Given the description of an element on the screen output the (x, y) to click on. 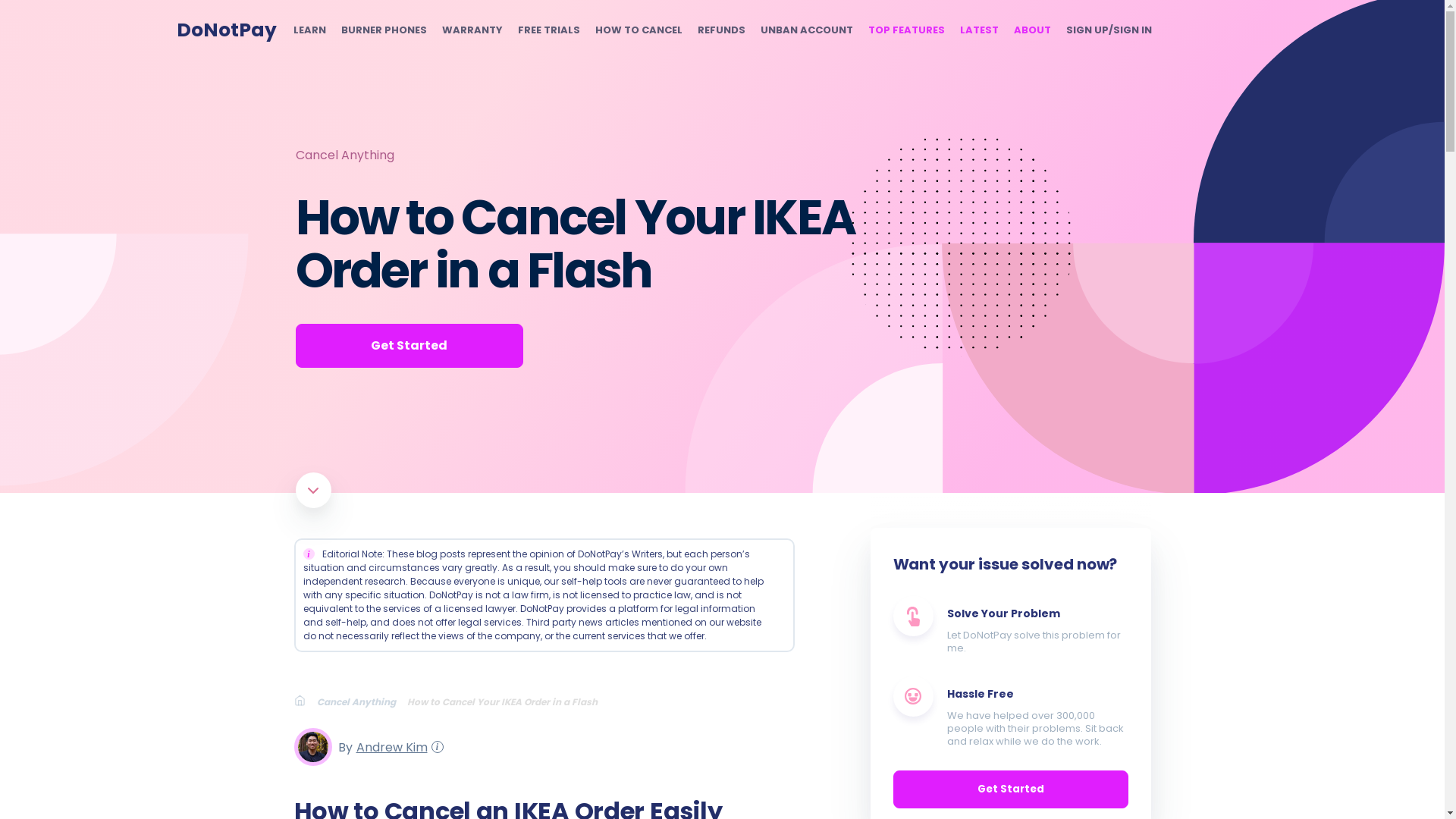
Andrew Kim (389, 746)
HOW TO CANCEL (637, 29)
WARRANTY (471, 29)
LEARN (308, 29)
UNBAN ACCOUNT (805, 29)
BURNER PHONES (383, 29)
REFUNDS (721, 29)
Cancel Anything (362, 700)
DoNotPay (226, 29)
LATEST (978, 29)
TOP FEATURES (905, 29)
Cancel Anything (344, 154)
FREE TRIALS (547, 29)
ABOUT (1031, 29)
Get Started (408, 345)
